Given the description of an element on the screen output the (x, y) to click on. 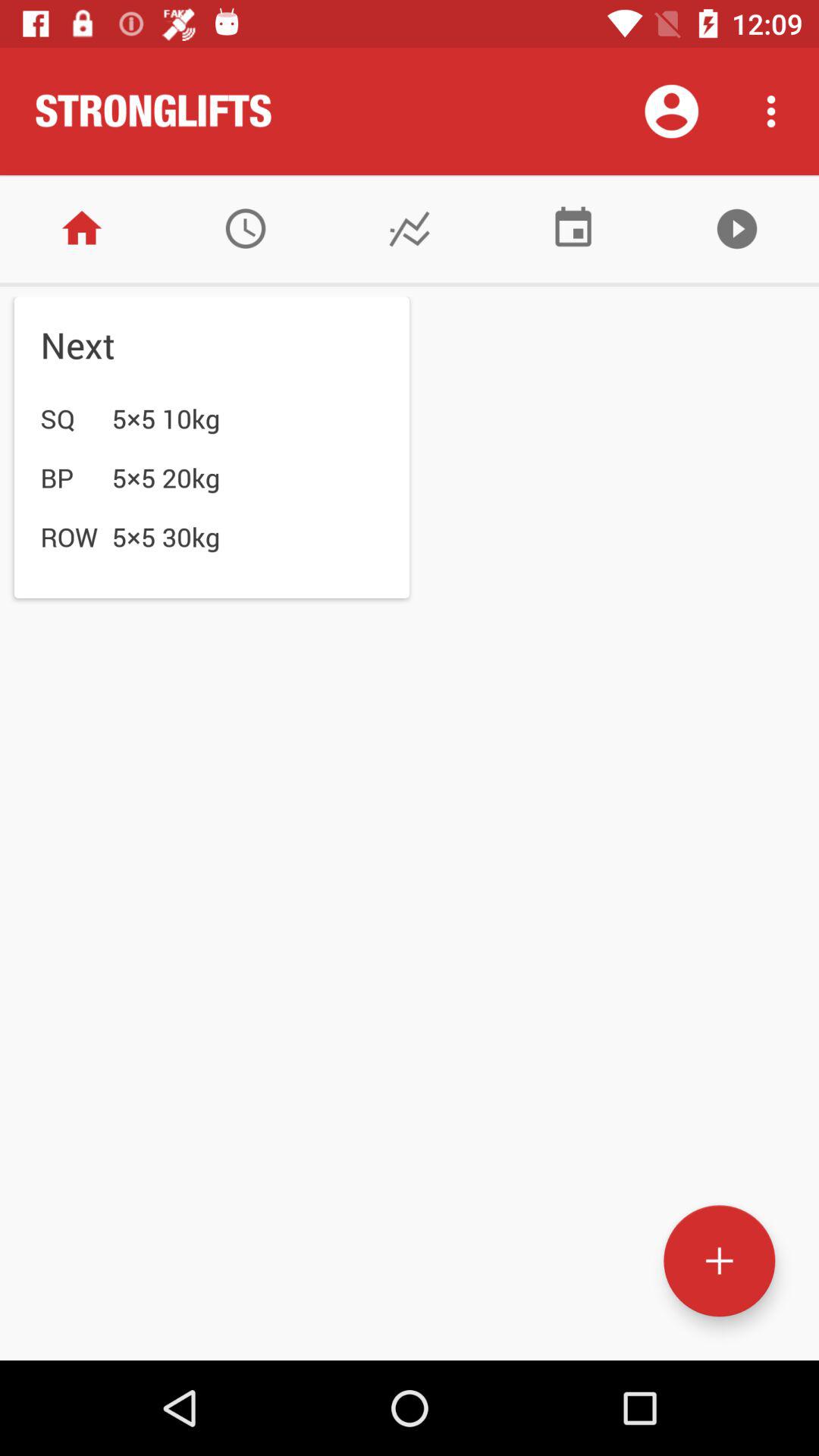
go home (81, 228)
